Given the description of an element on the screen output the (x, y) to click on. 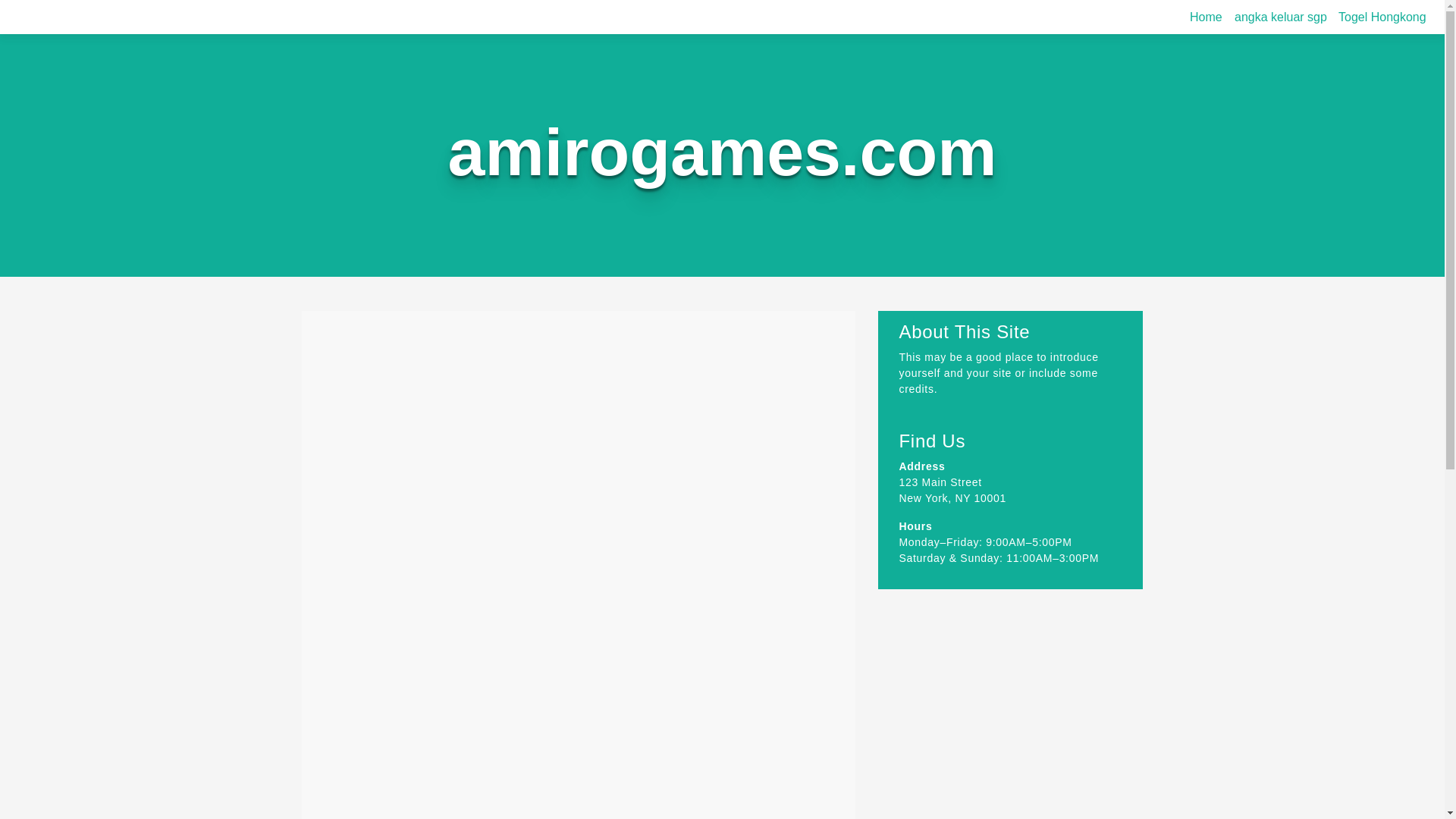
Togel Hongkong (1382, 16)
admin (505, 386)
Home (1205, 16)
August 24, 2022 (425, 386)
angka keluar sgp (1280, 16)
Togel Hongkong (1382, 16)
angka keluar sgp (1280, 16)
Home (1205, 16)
